Given the description of an element on the screen output the (x, y) to click on. 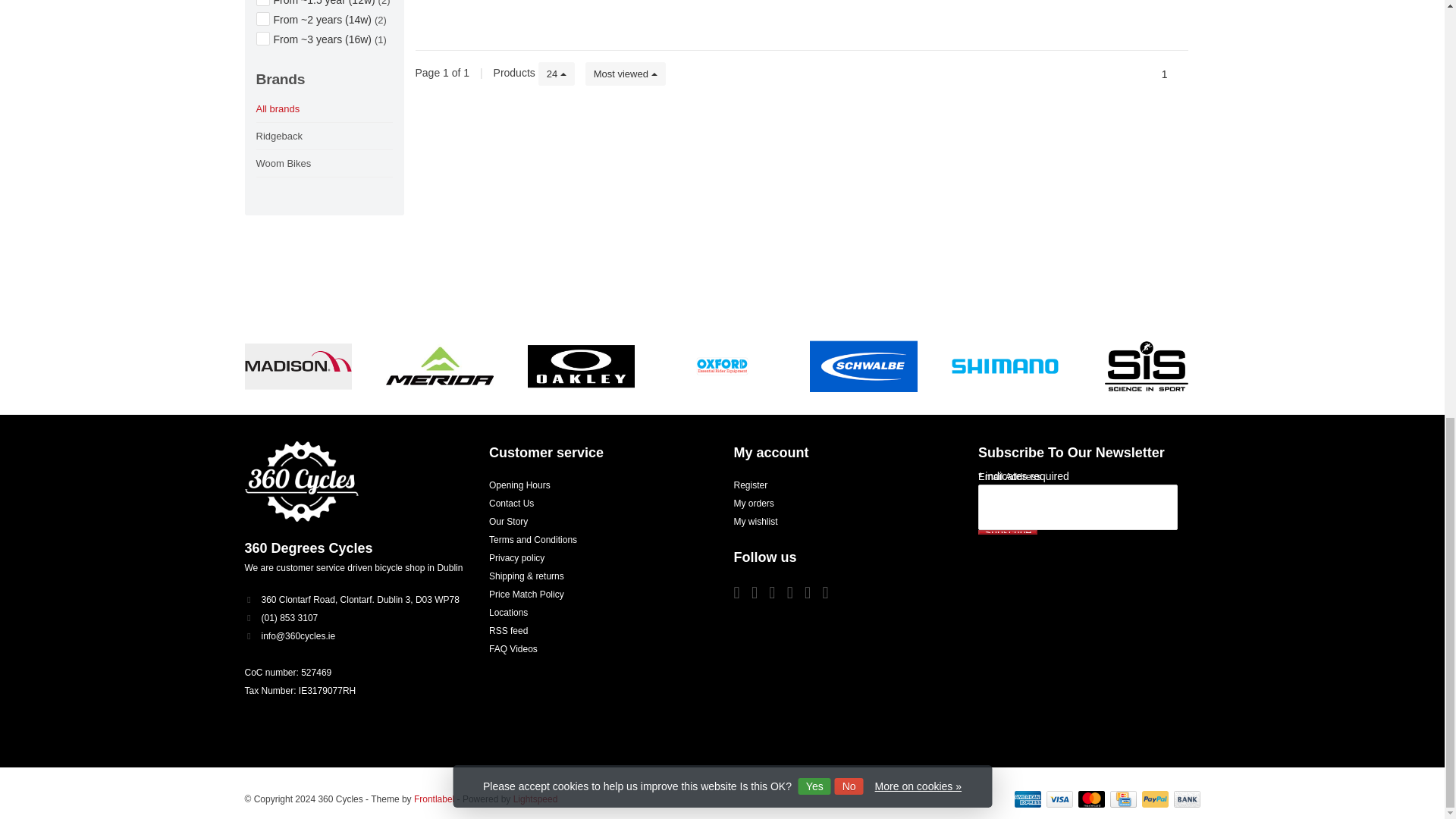
Subscribe (1007, 531)
362408 (262, 2)
362411 (262, 19)
362414 (262, 39)
